Given the description of an element on the screen output the (x, y) to click on. 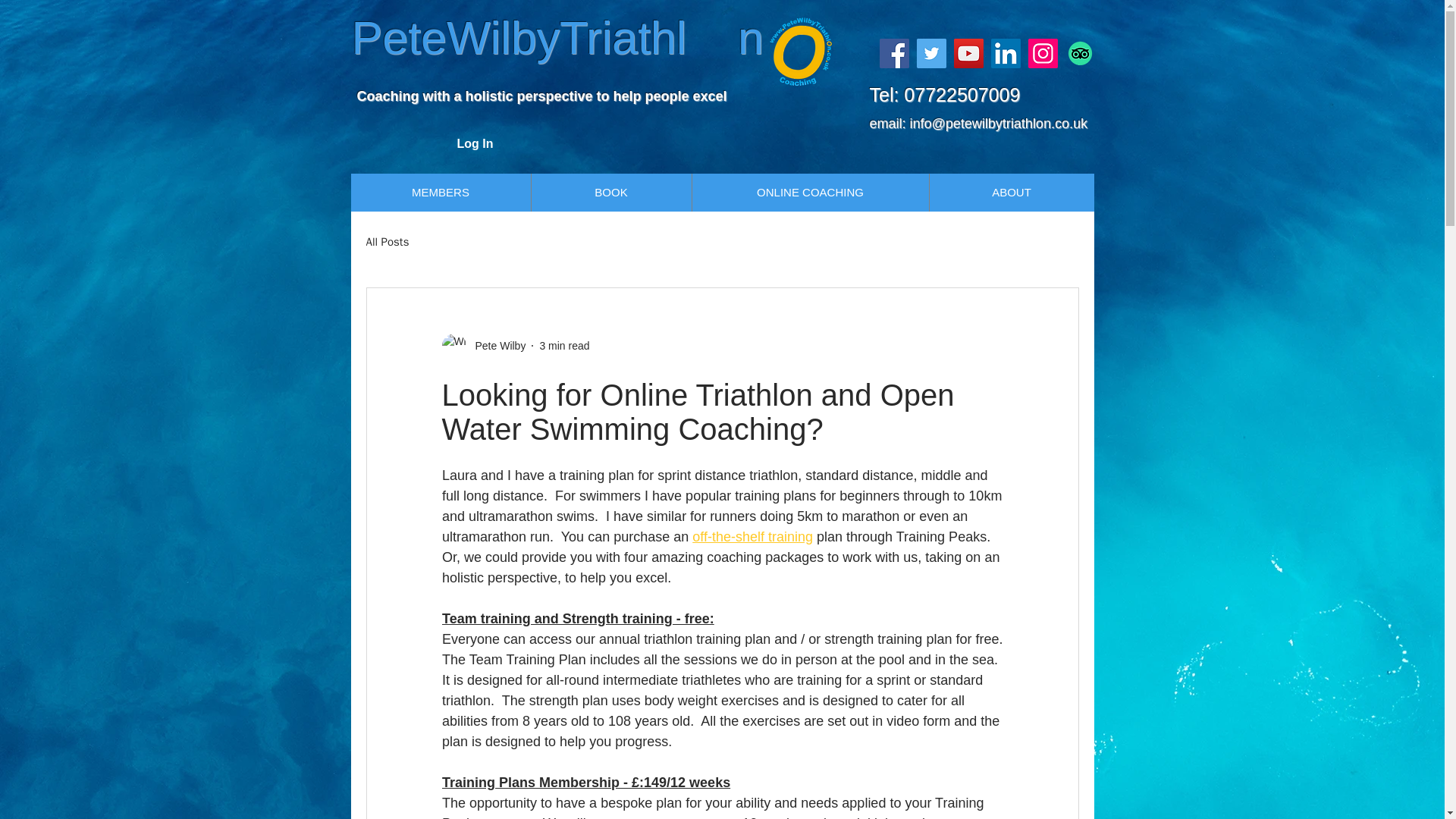
BOOK (611, 192)
All Posts (387, 242)
Team training and Strength training - free: (577, 618)
07722507009 (962, 94)
PeteWilbyTriathl    n (558, 37)
3 min read (563, 345)
Pete Wilby (483, 345)
MEMBERS (439, 192)
Log In (474, 144)
off-the-shelf training (752, 536)
ONLINE COACHING (809, 192)
Pete Wilby (495, 345)
